Given the description of an element on the screen output the (x, y) to click on. 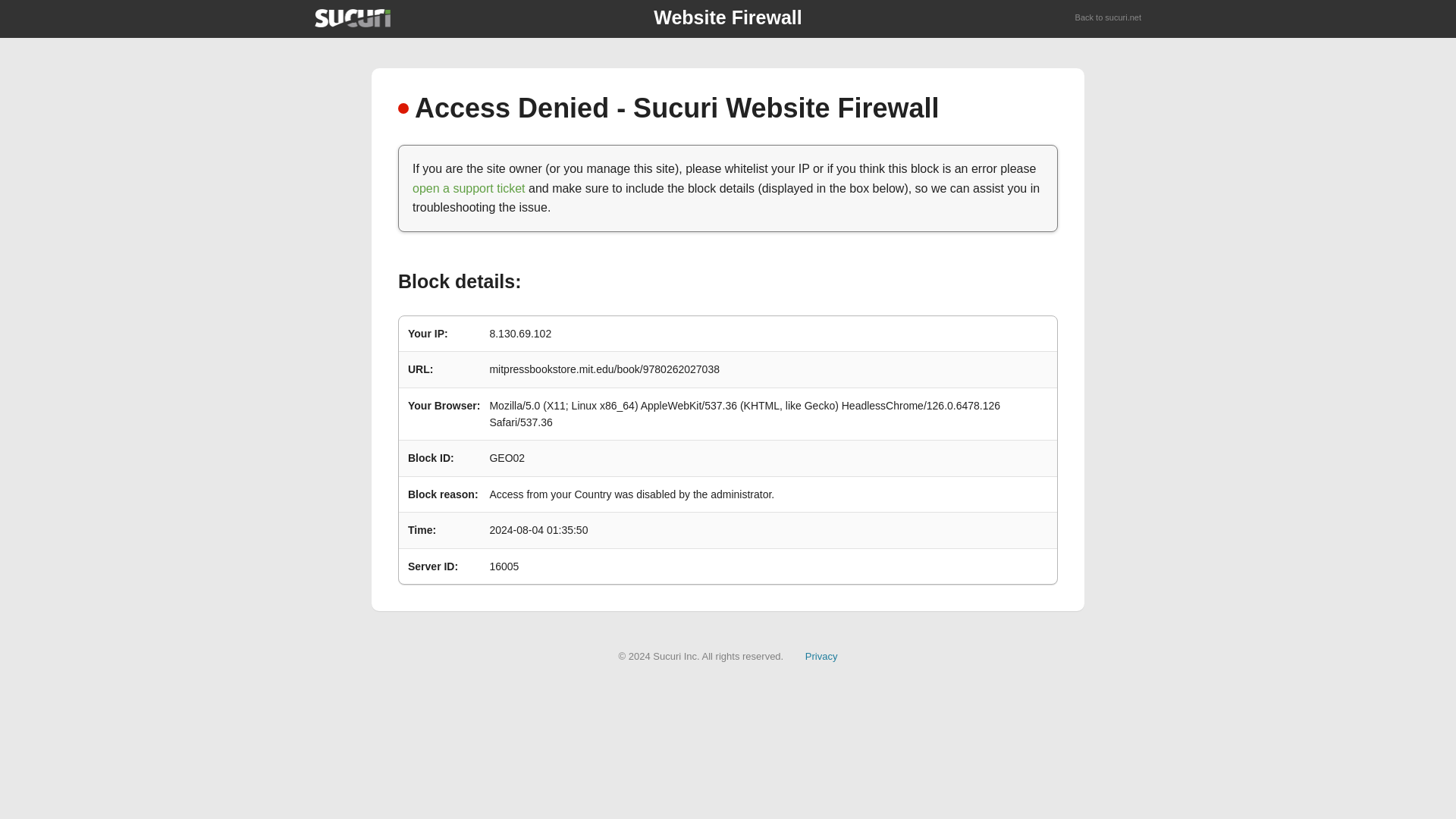
Back to sucuri.net (1108, 18)
open a support ticket (468, 187)
Privacy (821, 655)
